Given the description of an element on the screen output the (x, y) to click on. 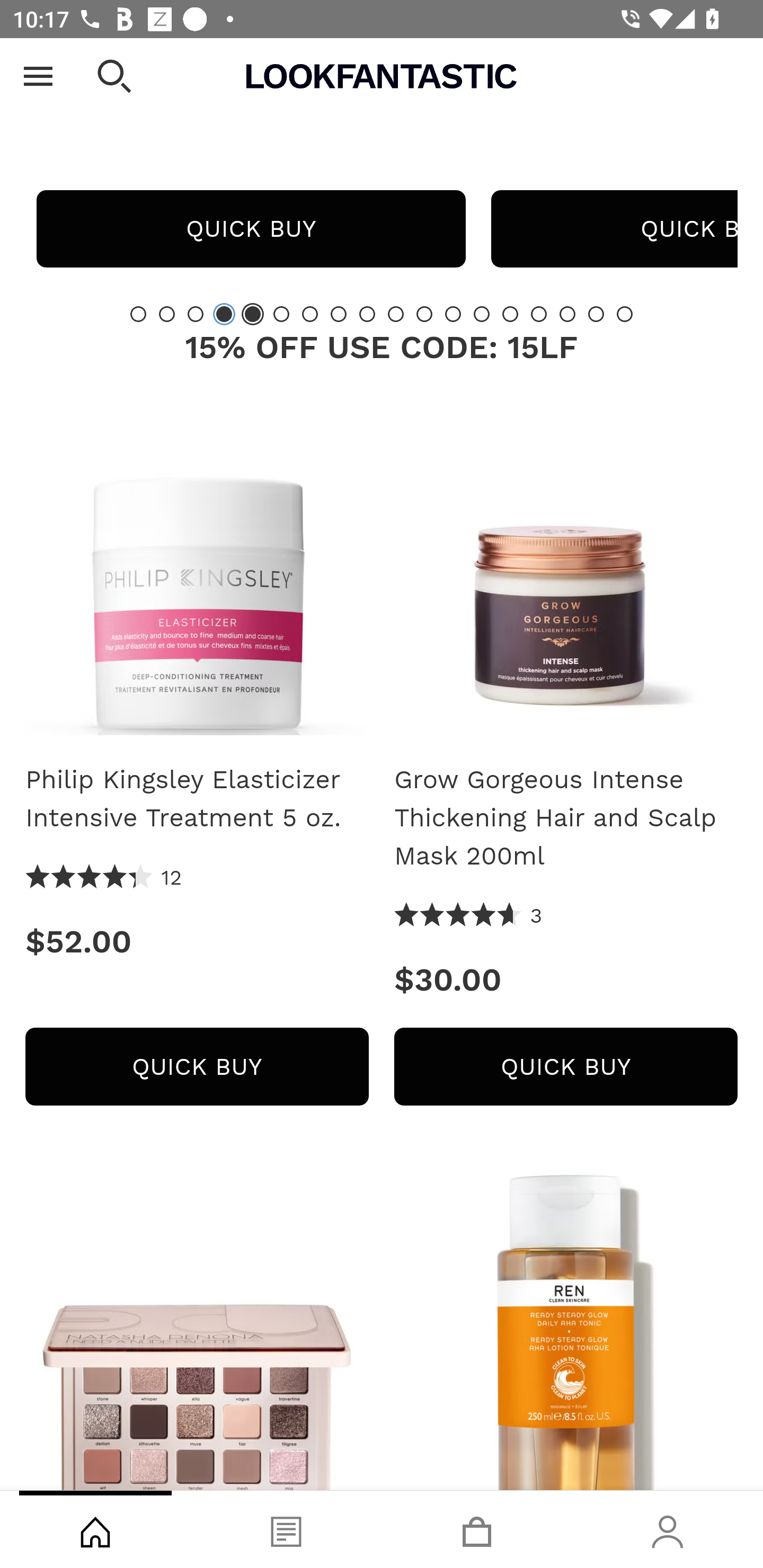
QUICK BUY GROW GORGEOUS SCALP MASSAGE TOOL (250, 228)
Slide 1 (138, 314)
Slide 2 (166, 314)
Slide 3 (195, 314)
Showing Slide 4 (Current Item) (223, 314)
Showing Slide 5 (Current Item) (252, 314)
Slide 6 (281, 314)
Slide 7 (310, 314)
Slide 8 (338, 314)
Slide 9 (367, 314)
Slide 10 (395, 314)
Slide 11 (424, 314)
Slide 12 (452, 314)
Slide 13 (481, 314)
Slide 14 (510, 314)
Slide 15 (539, 314)
Slide 16 (567, 314)
Slide 17 (596, 314)
Slide 18 (624, 314)
4.33 Stars 12 Reviews (104, 877)
4.67 Stars 3 Reviews (468, 916)
Price: $52.00 (196, 941)
Price: $30.00 (565, 979)
Natasha Denona I Need A Nude Palette (196, 1329)
Shop, tab, 1 of 4 (95, 1529)
Blog, tab, 2 of 4 (285, 1529)
Basket, tab, 3 of 4 (476, 1529)
Account, tab, 4 of 4 (667, 1529)
